Given the description of an element on the screen output the (x, y) to click on. 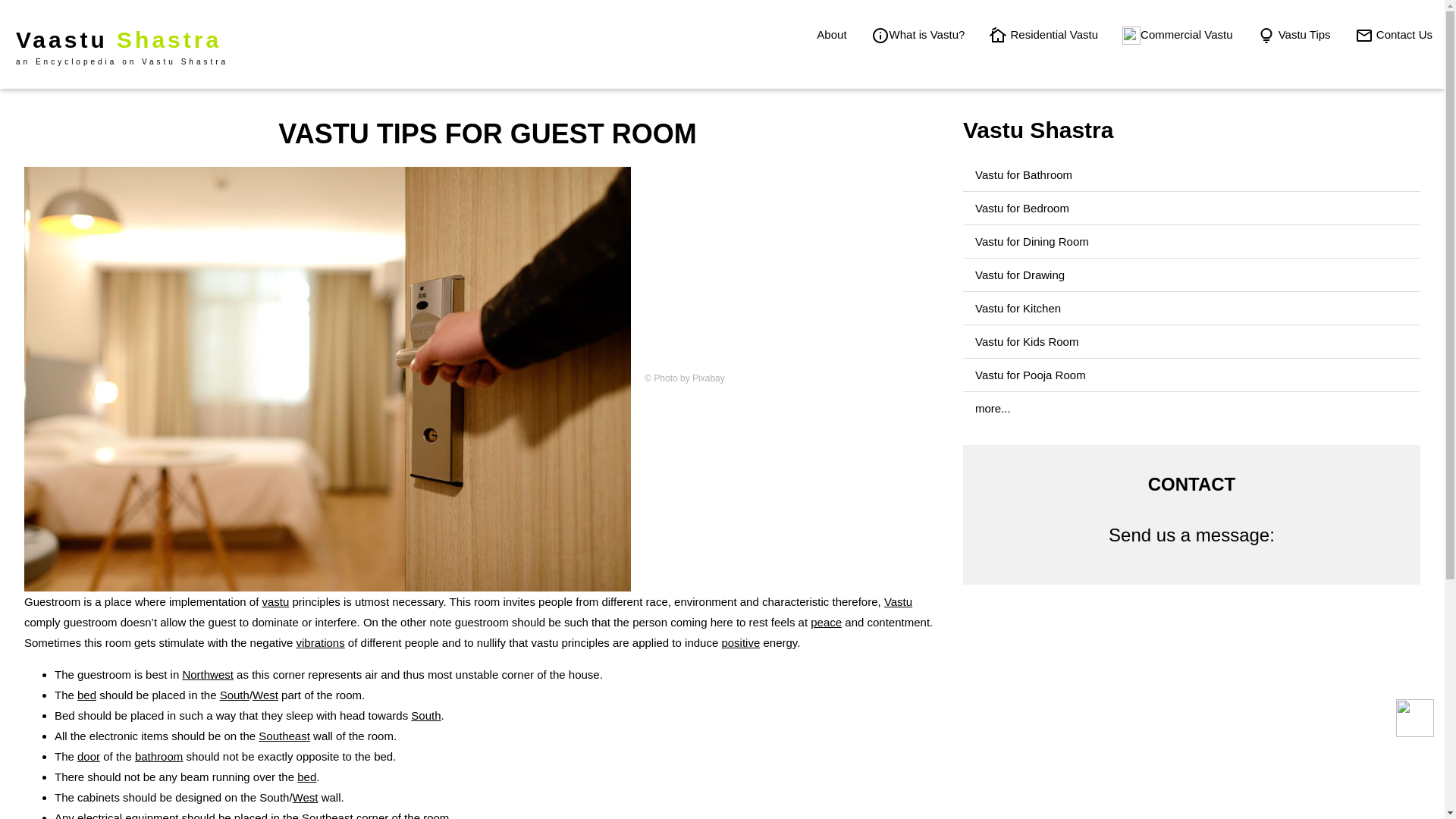
Vastu for Bedroom (1021, 207)
West (305, 797)
vibrations (319, 642)
Vastu for Bathroom (1023, 174)
West (264, 694)
vastu (275, 601)
South (425, 715)
bed (306, 776)
bathroom (159, 756)
South (233, 694)
positive (740, 642)
What is Vastu? (122, 44)
About (917, 34)
door (832, 34)
